Given the description of an element on the screen output the (x, y) to click on. 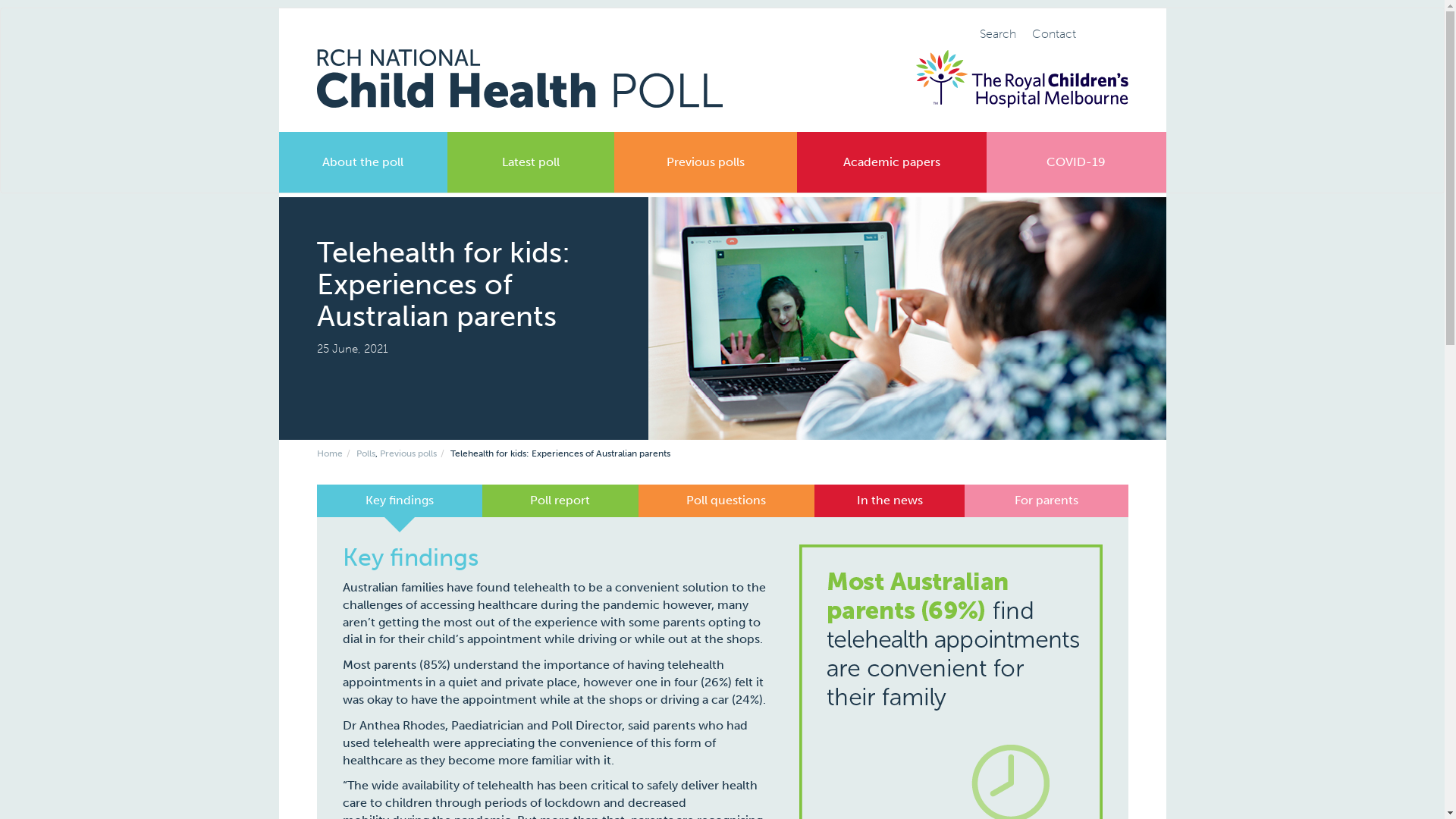
Poll report Element type: text (560, 500)
Previous polls Element type: text (407, 453)
Poll questions Element type: text (726, 500)
Key findings Element type: text (399, 500)
For parents Element type: text (1045, 500)
Search Element type: text (1001, 34)
Home Element type: text (329, 453)
COVID-19 Element type: text (1075, 161)
In the news Element type: text (889, 500)
Polls Element type: text (365, 453)
Contact Element type: text (1053, 34)
Search Element type: text (1106, 29)
Latest poll Element type: text (530, 161)
About the poll Element type: text (363, 161)
Previous polls Element type: text (705, 161)
Academic papers Element type: text (891, 161)
